Given the description of an element on the screen output the (x, y) to click on. 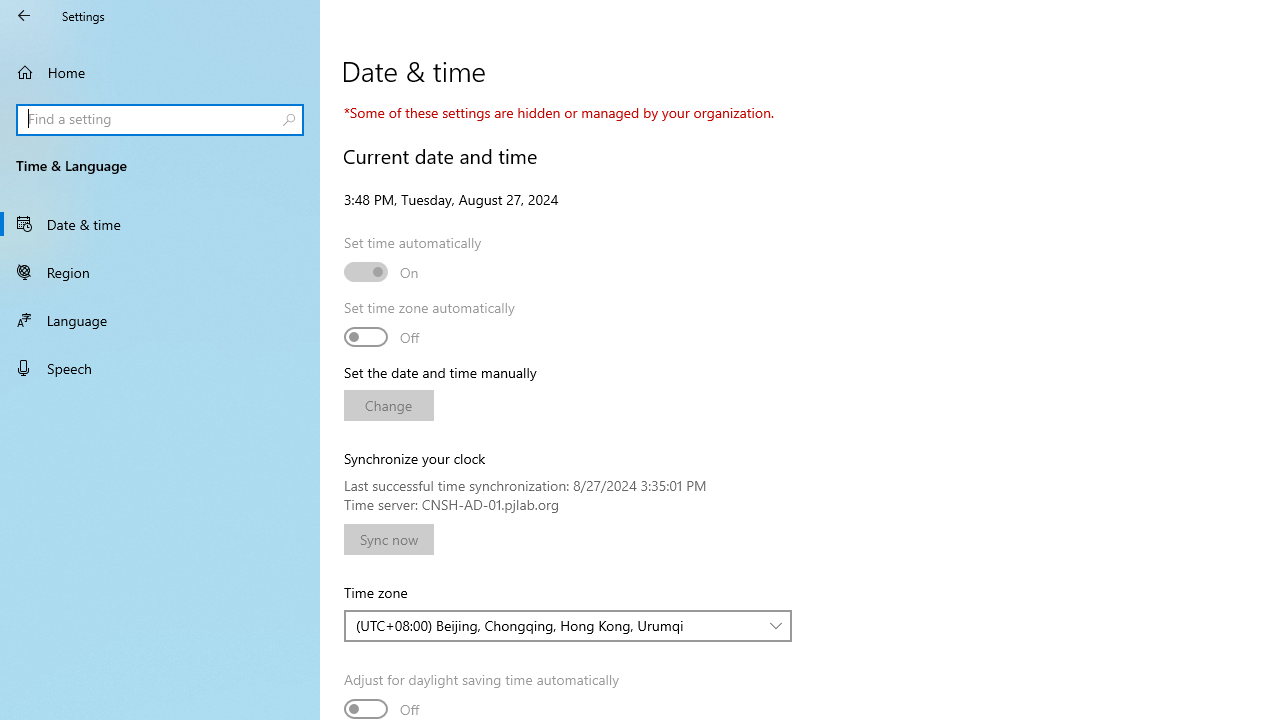
Sync now (388, 539)
Speech (160, 367)
Set the date and time manually (388, 405)
Time zone (568, 625)
Date & time (160, 223)
Region (160, 271)
Set time automatically (381, 272)
Language (160, 319)
(UTC+08:00) Beijing, Chongqing, Hong Kong, Urumqi (557, 625)
Set time zone automatically (381, 336)
